Given the description of an element on the screen output the (x, y) to click on. 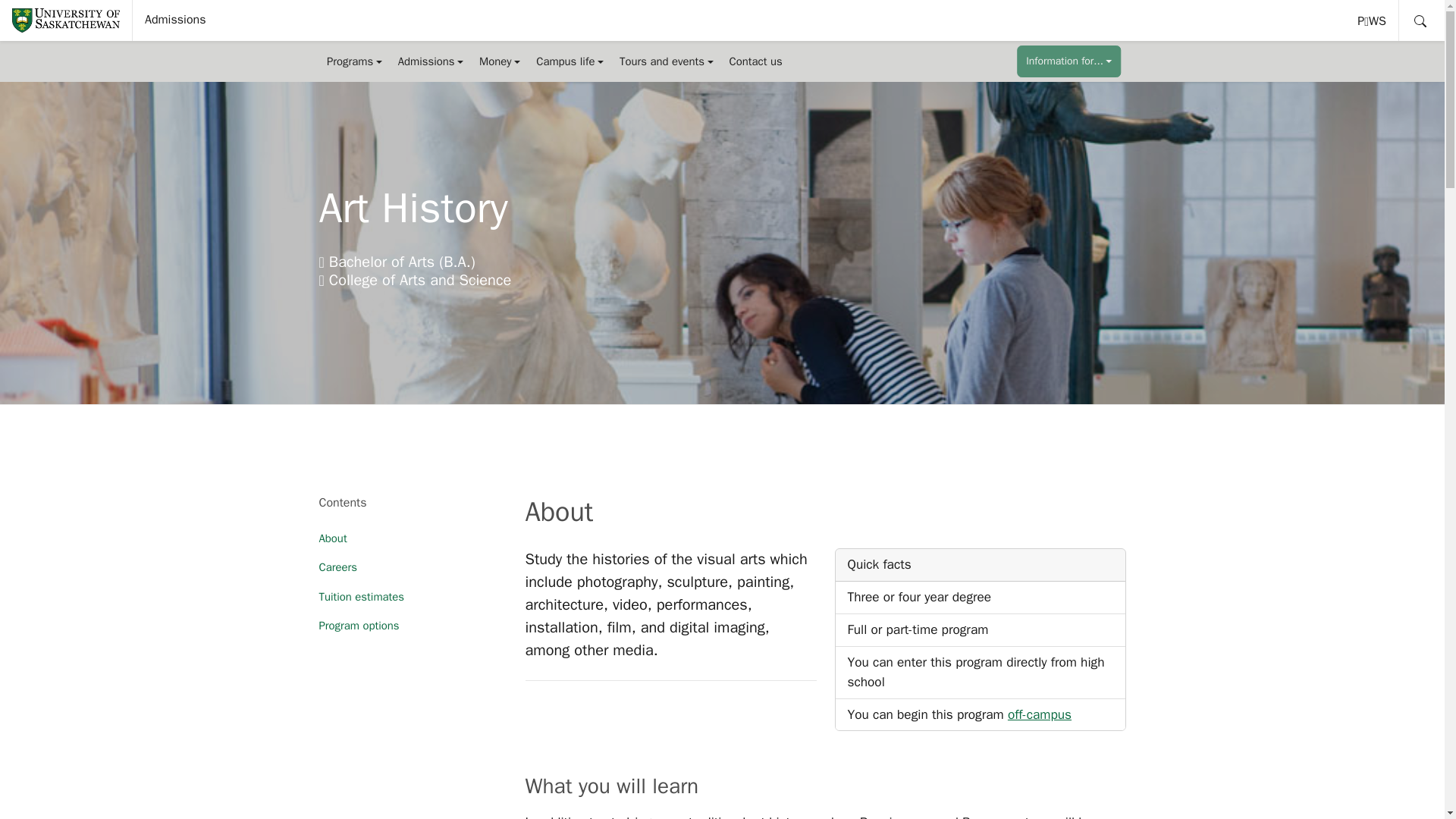
Money (499, 60)
Tours and events (666, 60)
Campus life (569, 60)
Admissions (175, 20)
Admissions (430, 60)
PAWS (1372, 20)
Programs (354, 60)
Information for... (1372, 20)
Contact us (1068, 60)
